Given the description of an element on the screen output the (x, y) to click on. 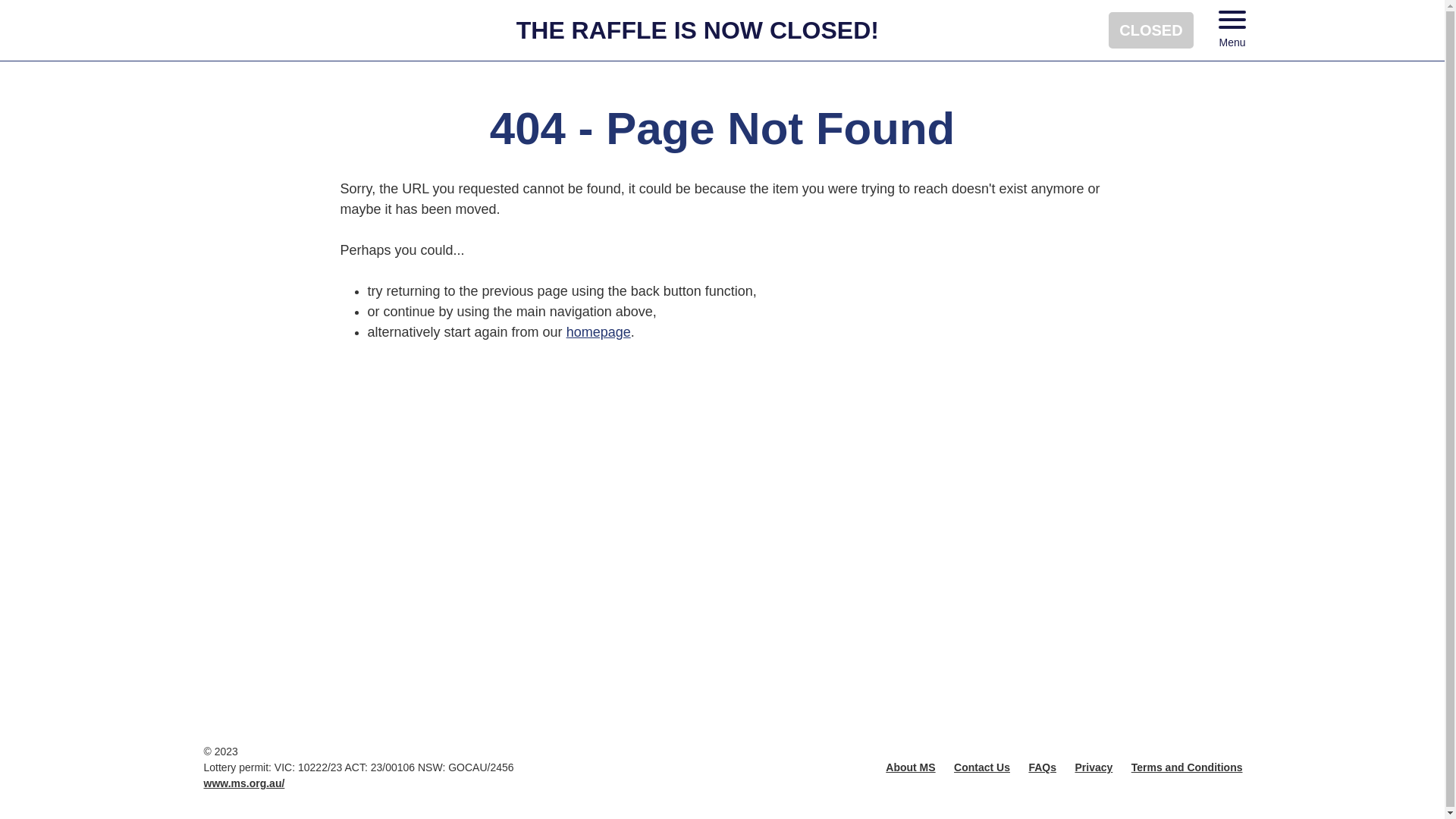
FAQs Element type: text (1042, 767)
Menu Element type: text (1231, 30)
Privacy Element type: text (1093, 767)
homepage Element type: text (598, 331)
Terms and Conditions Element type: text (1186, 767)
Contact Us Element type: text (981, 767)
About MS Element type: text (910, 767)
CLOSED Element type: text (1150, 30)
www.ms.org.au/ Element type: text (243, 783)
